Given the description of an element on the screen output the (x, y) to click on. 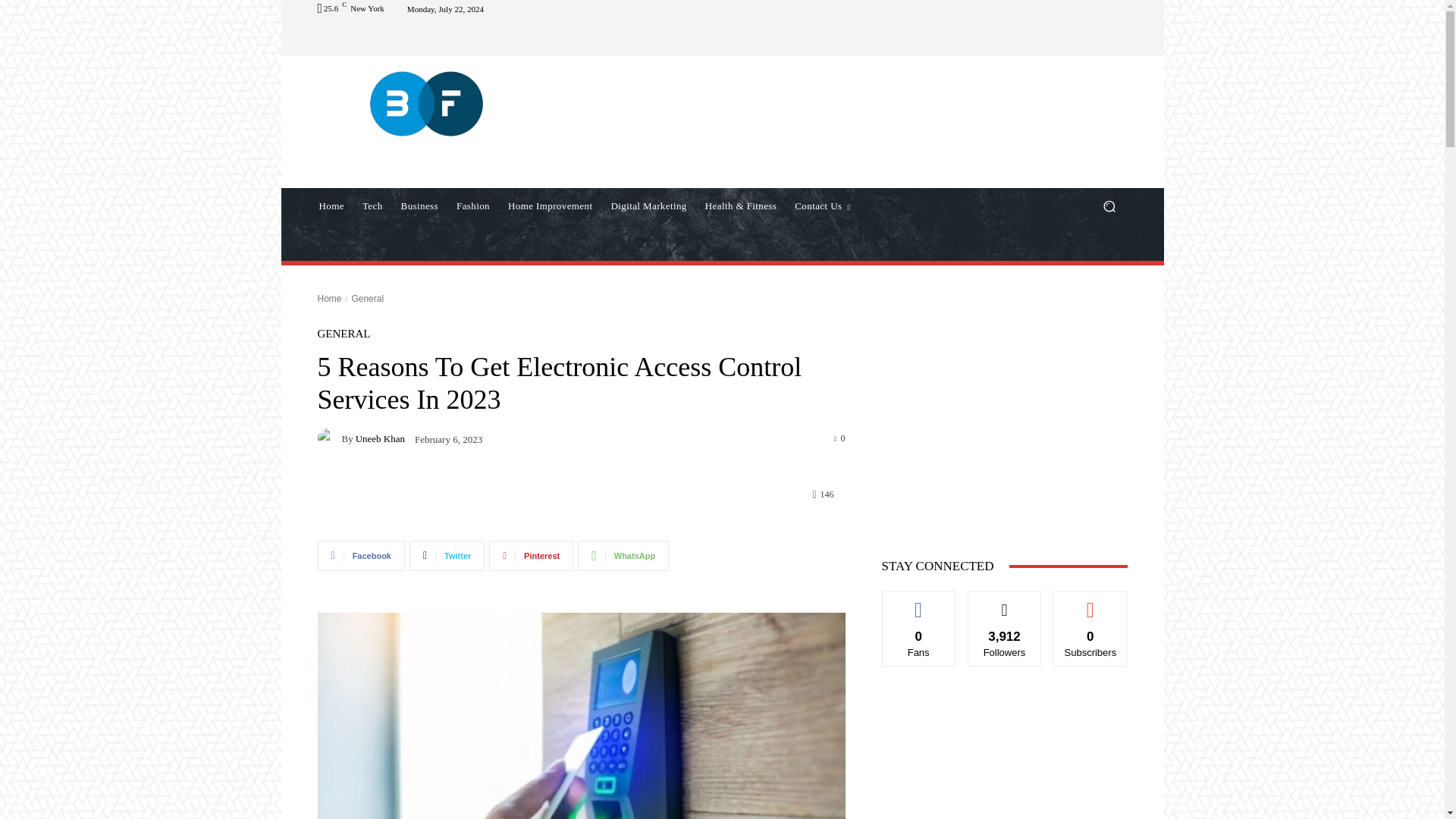
Tech (372, 206)
Facebook (360, 555)
Business (418, 206)
Home Improvement (550, 206)
Uneeb Khan (328, 437)
WhatsApp (623, 555)
Pinterest (531, 555)
Home (330, 206)
Contact Us (822, 206)
Fashion (472, 206)
View all posts in General (367, 298)
Digital Marketing (648, 206)
Twitter (446, 555)
